Given the description of an element on the screen output the (x, y) to click on. 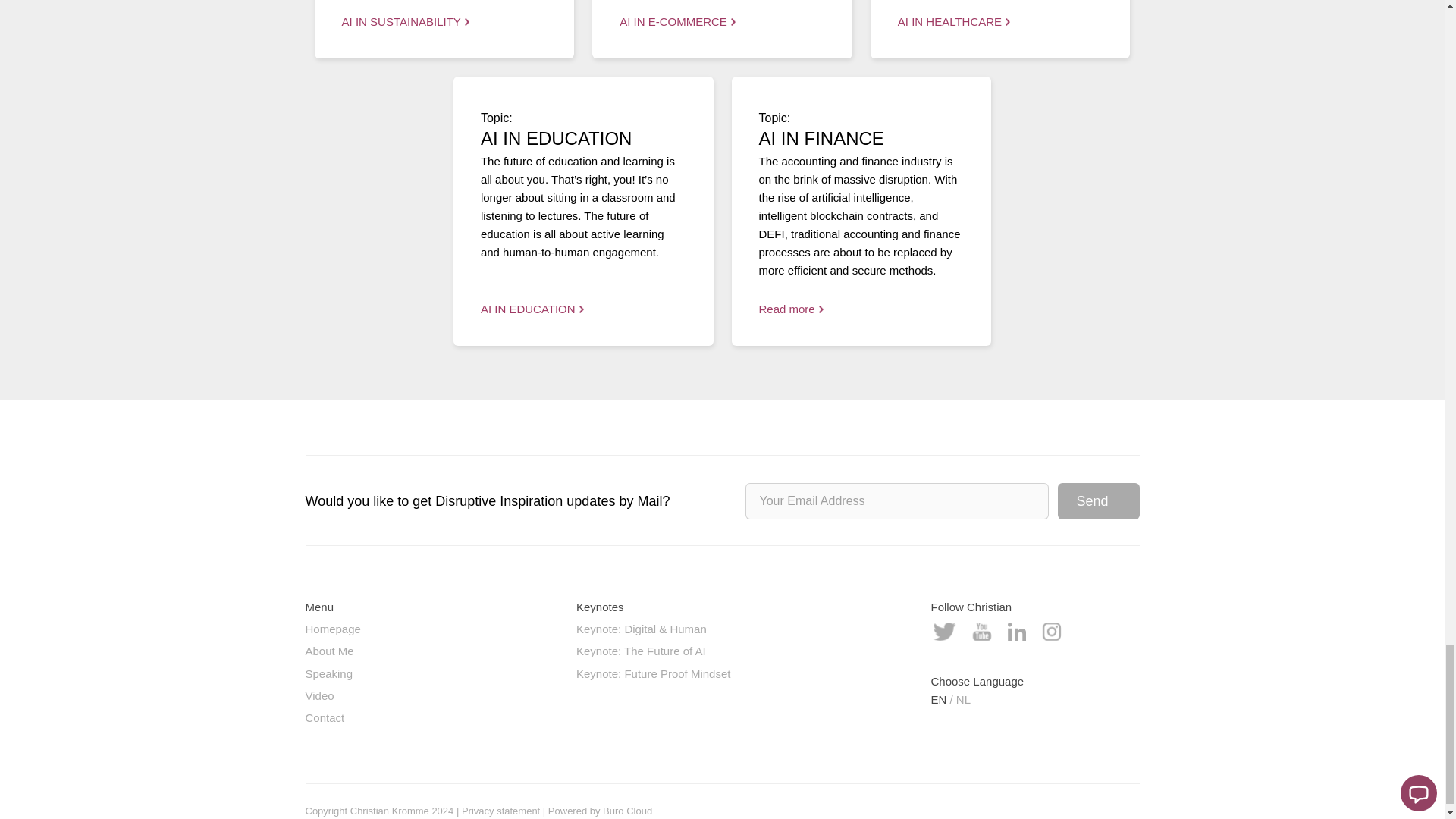
Send (1097, 501)
